Given the description of an element on the screen output the (x, y) to click on. 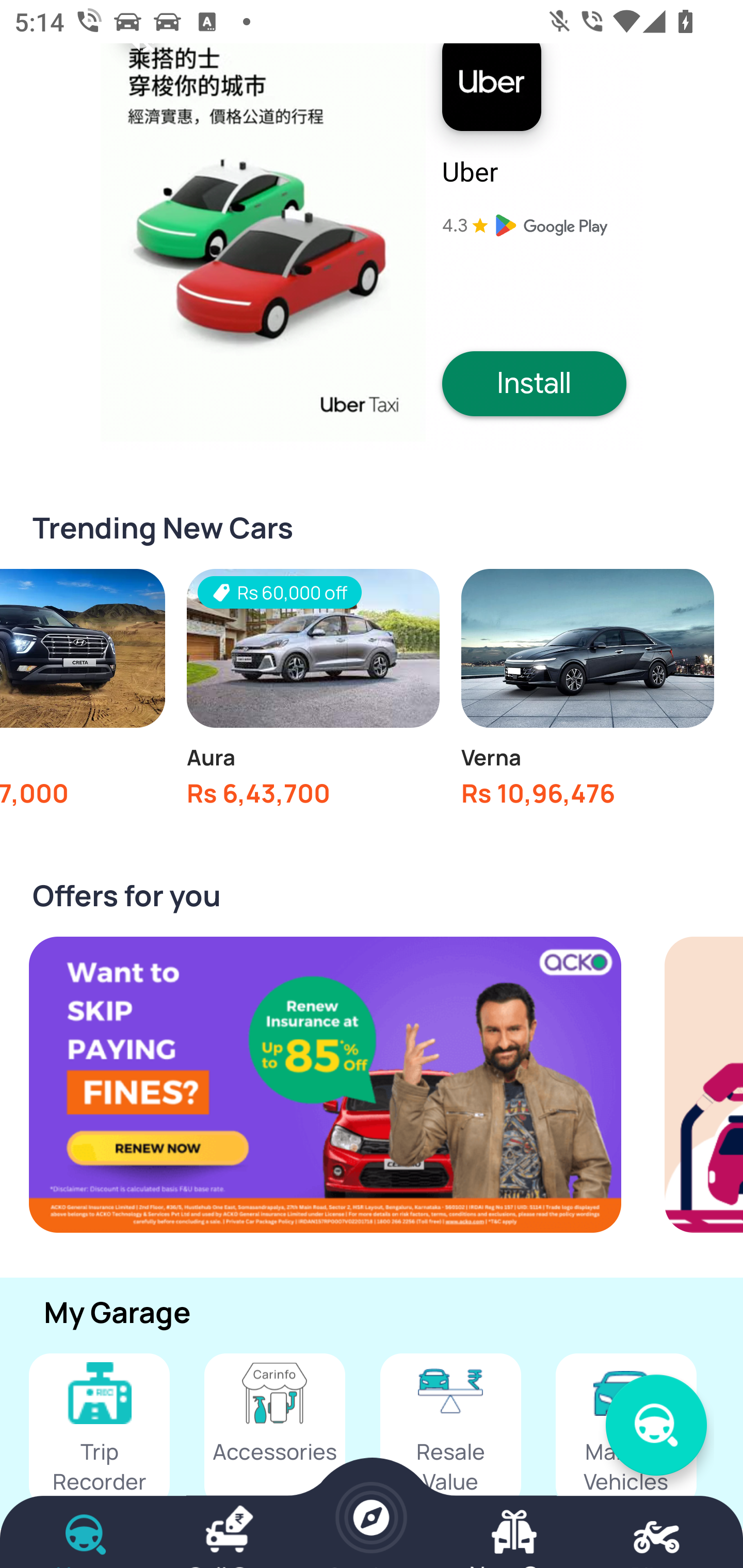
Install (533, 383)
Creta Rs 10,87,000 onwards (82, 692)
Rs 60,000 off Aura Rs 6,43,700 onwards (312, 692)
Verna Rs 10,96,476 onwards (587, 692)
Trip Recorder (98, 1429)
Accessories (274, 1429)
Resale
Value (450, 1429)
Manage
Vehicles (625, 1429)
